Given the description of an element on the screen output the (x, y) to click on. 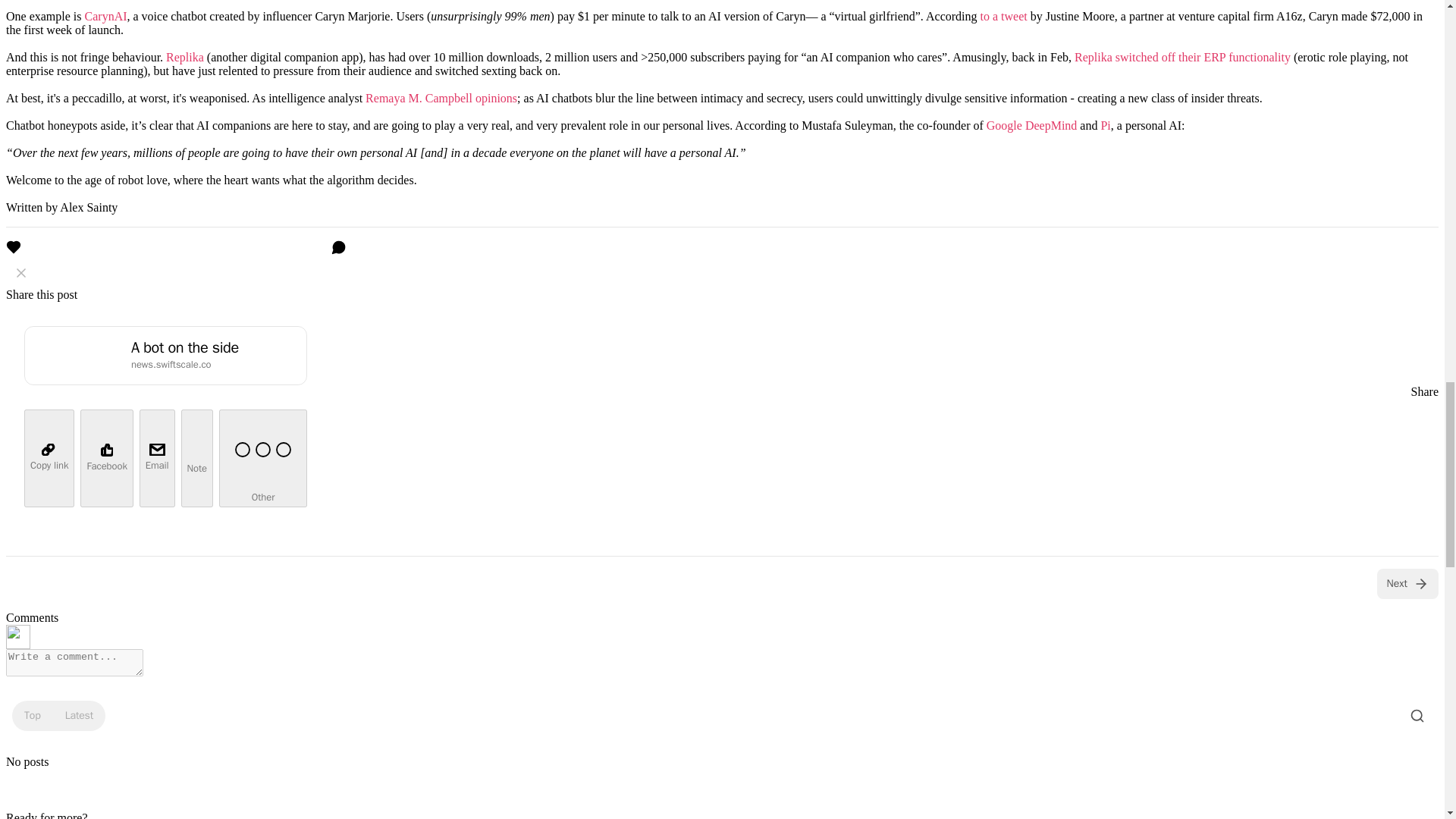
Replika (184, 56)
to a tweet (1003, 15)
Replika switched off their ERP functionality (1182, 56)
Remaya M. Campbell opinions (440, 97)
CarynAI (106, 15)
Google DeepMind (1032, 124)
